Given the description of an element on the screen output the (x, y) to click on. 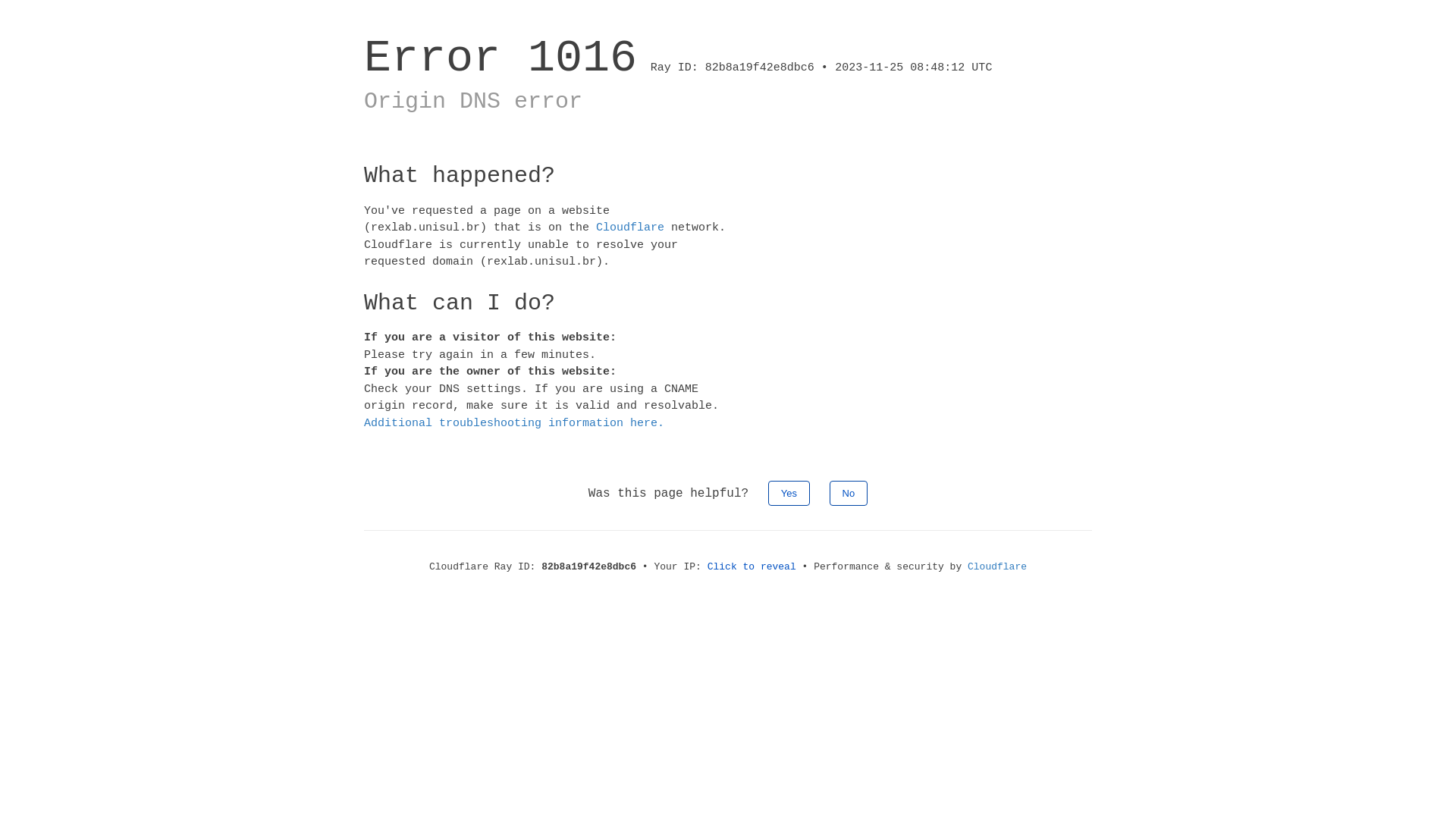
No Element type: text (848, 492)
Cloudflare Element type: text (996, 566)
Additional troubleshooting information here. Element type: text (514, 423)
Cloudflare Element type: text (630, 227)
Yes Element type: text (788, 492)
Click to reveal Element type: text (751, 566)
